Given the description of an element on the screen output the (x, y) to click on. 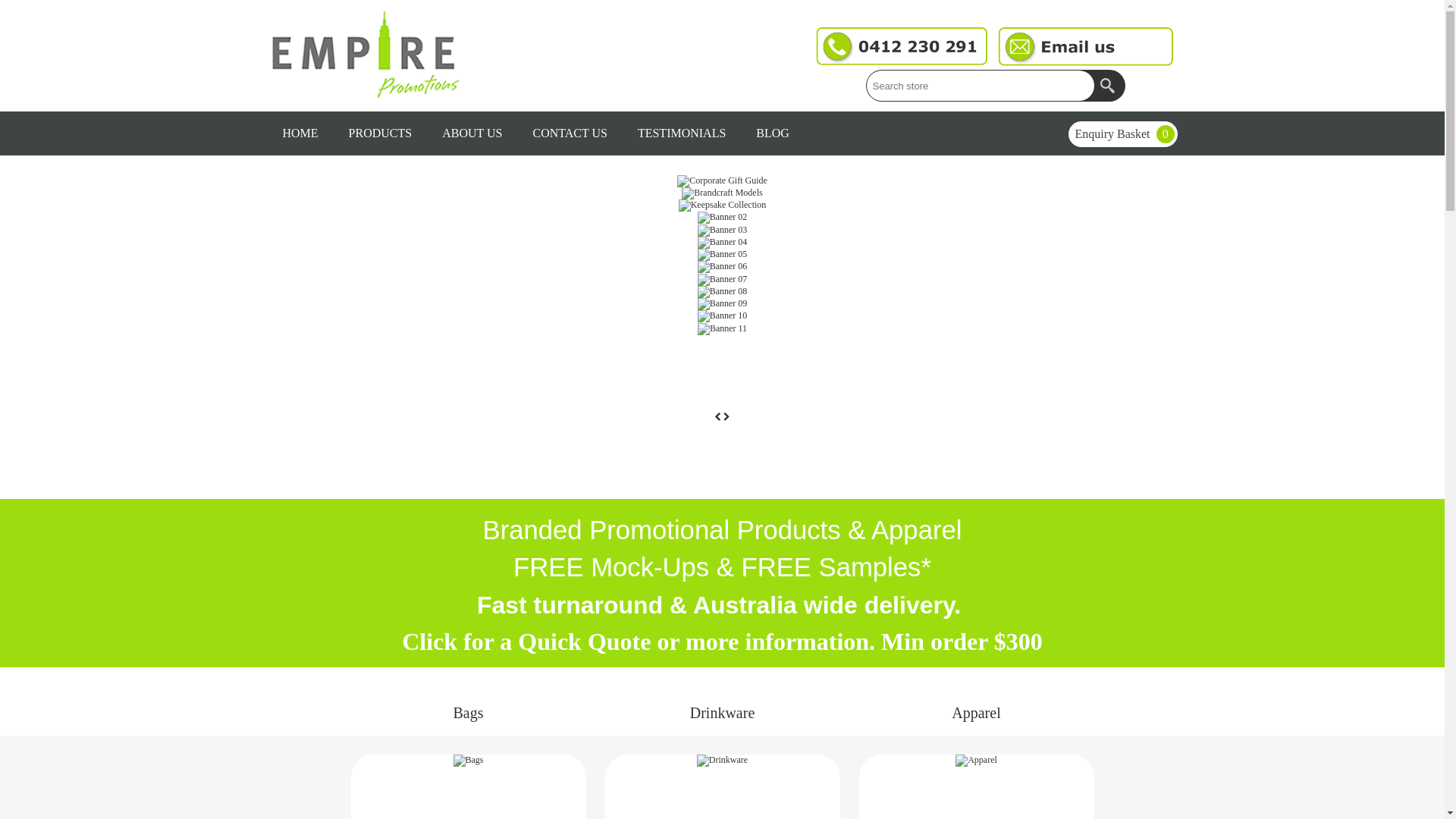
Drinkware Element type: hover (722, 760)
ABOUT US Element type: text (471, 133)
TESTIMONIALS Element type: text (681, 133)
Apparel Element type: hover (976, 760)
Drinkware Element type: text (722, 712)
Drinkware Element type: hover (721, 760)
Next Element type: text (726, 416)
CONTACT US Element type: text (569, 133)
Previous Element type: text (718, 416)
HOME Element type: text (299, 133)
PRODUCTS Element type: text (380, 133)
Bags Element type: text (467, 712)
Bags Element type: hover (468, 760)
BLOG Element type: text (772, 133)
Apparel Element type: hover (975, 760)
Bags Element type: hover (467, 760)
Apparel Element type: text (975, 712)
Search Element type: text (1108, 85)
Click for a Quick Quote or more information. Min order $300 Element type: text (721, 641)
